Given the description of an element on the screen output the (x, y) to click on. 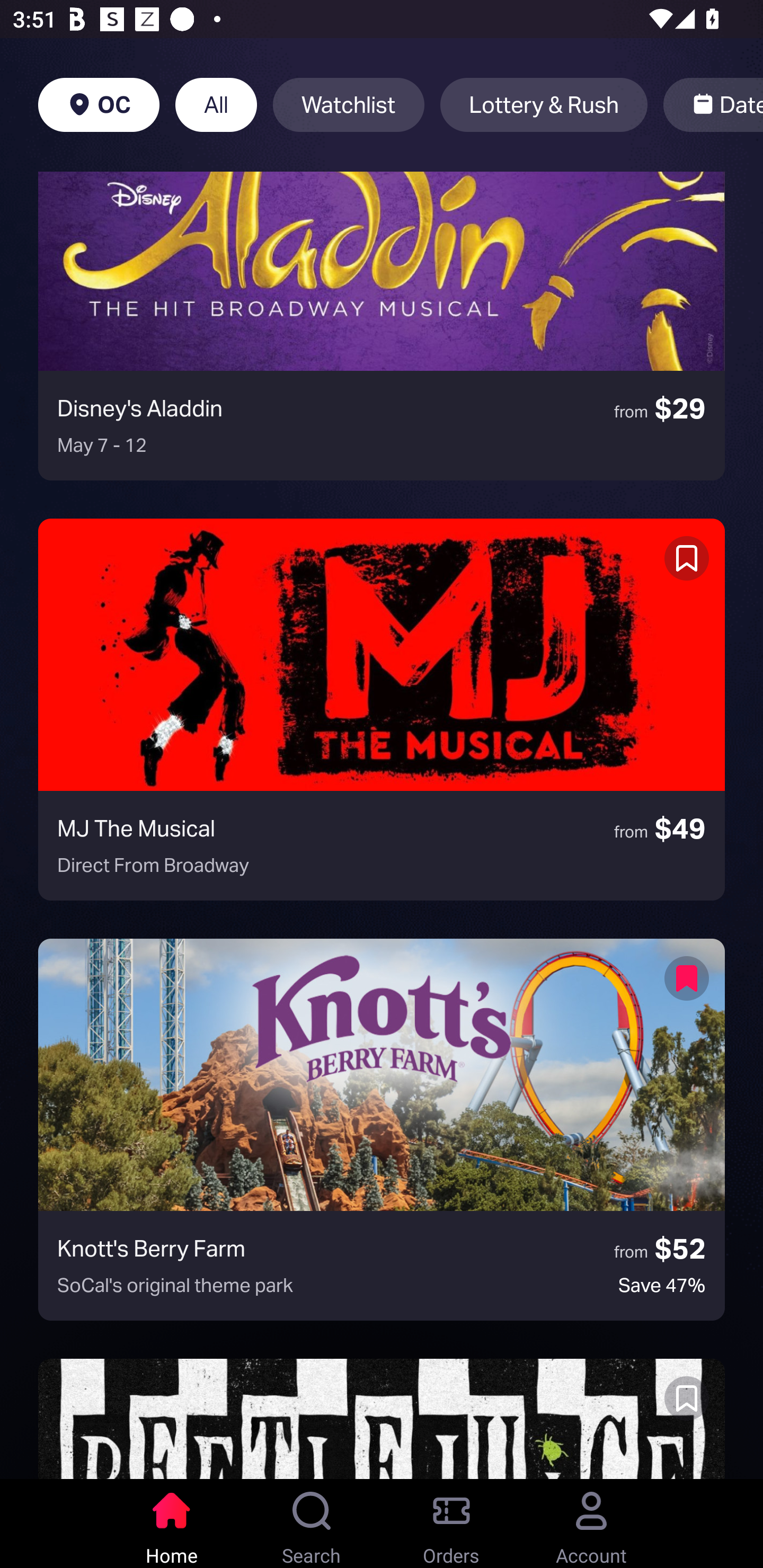
OC (98, 104)
All (216, 104)
Watchlist (348, 104)
Lottery & Rush (543, 104)
Disney's Aladdin from $29 May 7 - 12 (381, 324)
MJ The Musical from $49 Direct From Broadway (381, 709)
Search (311, 1523)
Orders (451, 1523)
Account (591, 1523)
